Given the description of an element on the screen output the (x, y) to click on. 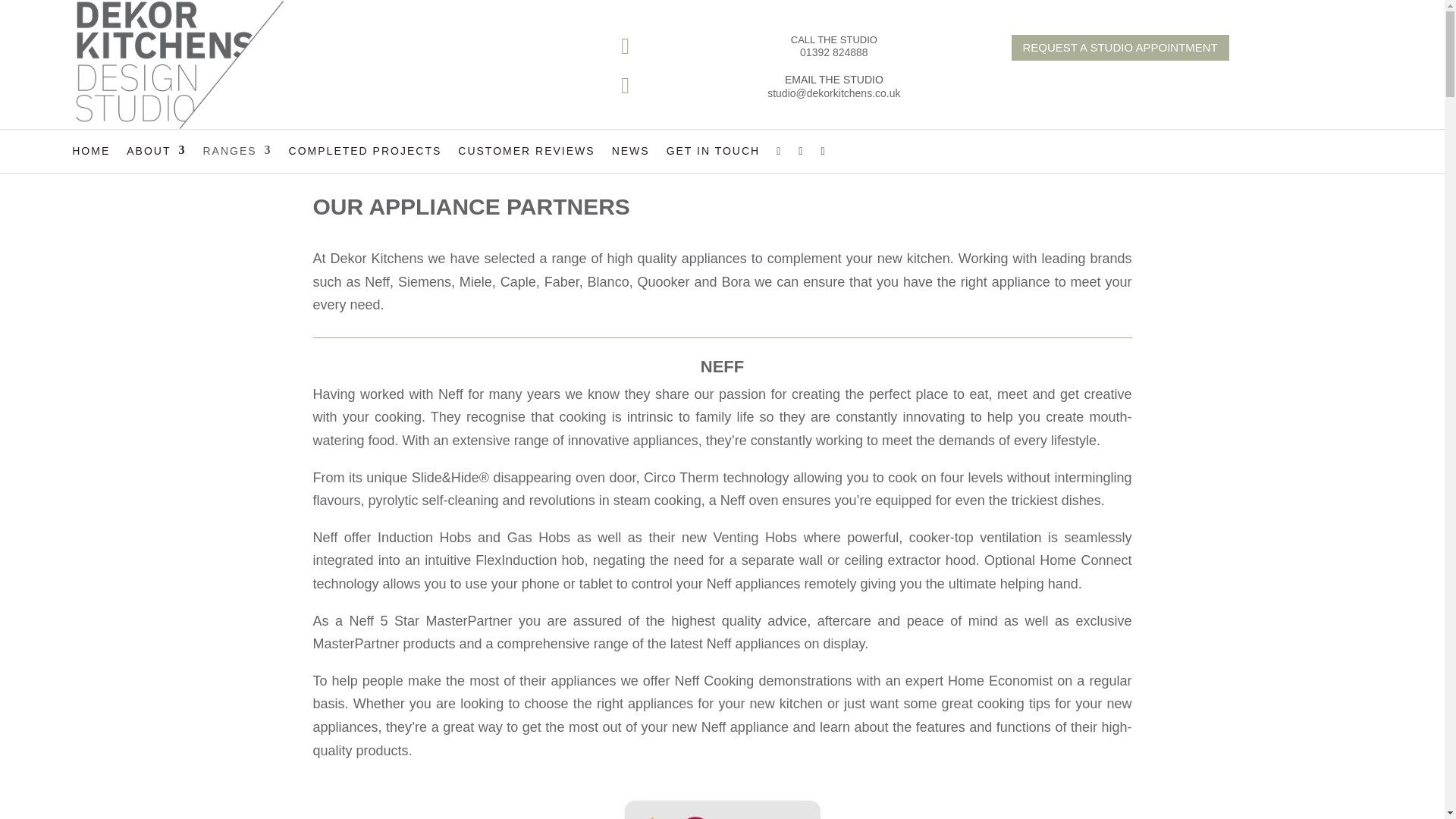
01392 824888 (833, 51)
RANGES (236, 150)
HOME (90, 150)
CUSTOMER REVIEWS (526, 150)
ABOUT (156, 150)
REQUEST A STUDIO APPOINTMENT (1119, 48)
COMPLETED PROJECTS (365, 150)
GET IN TOUCH (713, 150)
NEWS (630, 150)
